Given the description of an element on the screen output the (x, y) to click on. 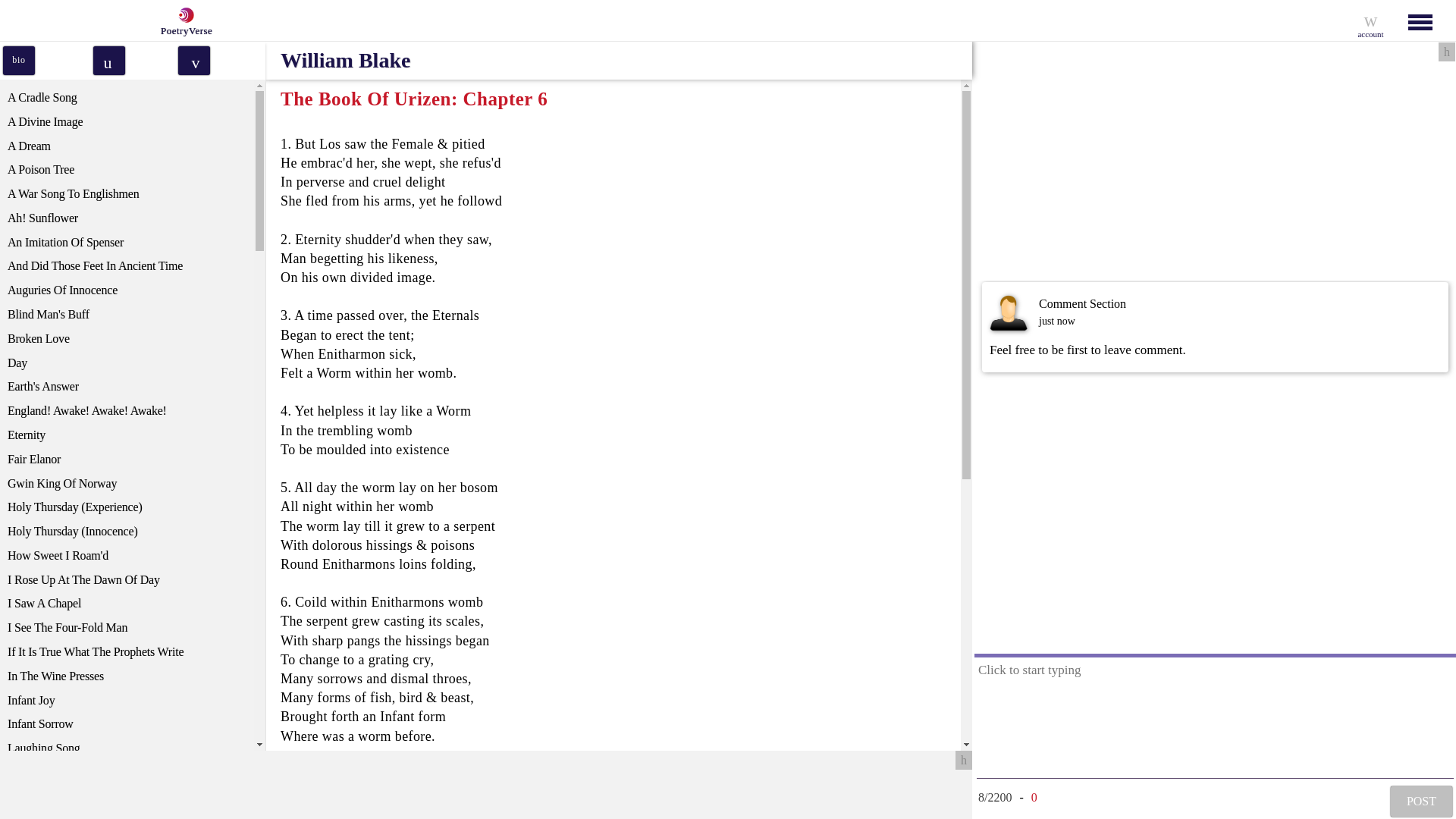
PoetryVerse (182, 20)
user widget button (1370, 20)
Poetry Verse Logo (183, 15)
